Given the description of an element on the screen output the (x, y) to click on. 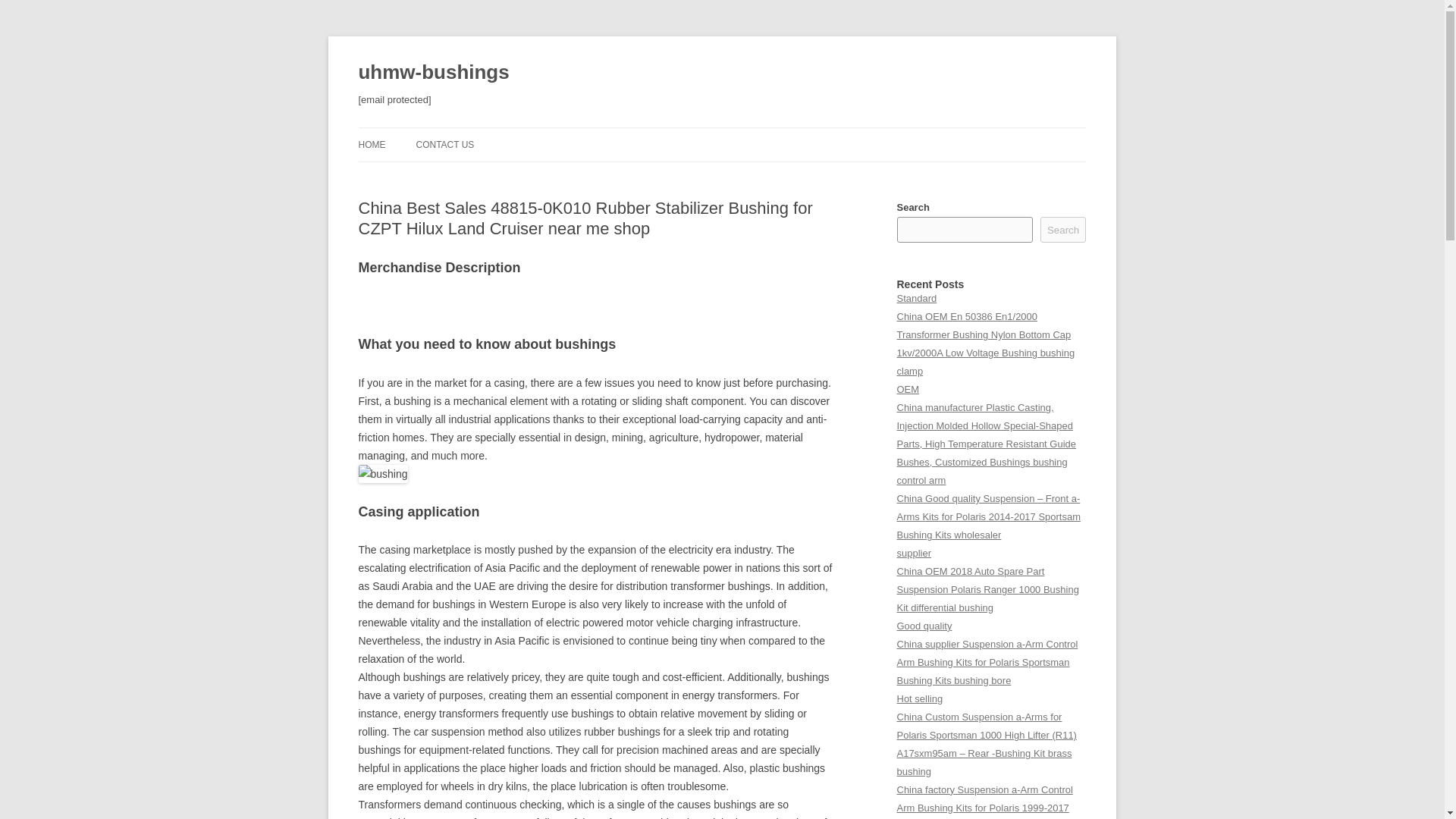
Hot selling (919, 698)
Search (1063, 229)
Standard (916, 297)
Good quality (924, 625)
CONTACT US (444, 144)
supplier (913, 552)
